Given the description of an element on the screen output the (x, y) to click on. 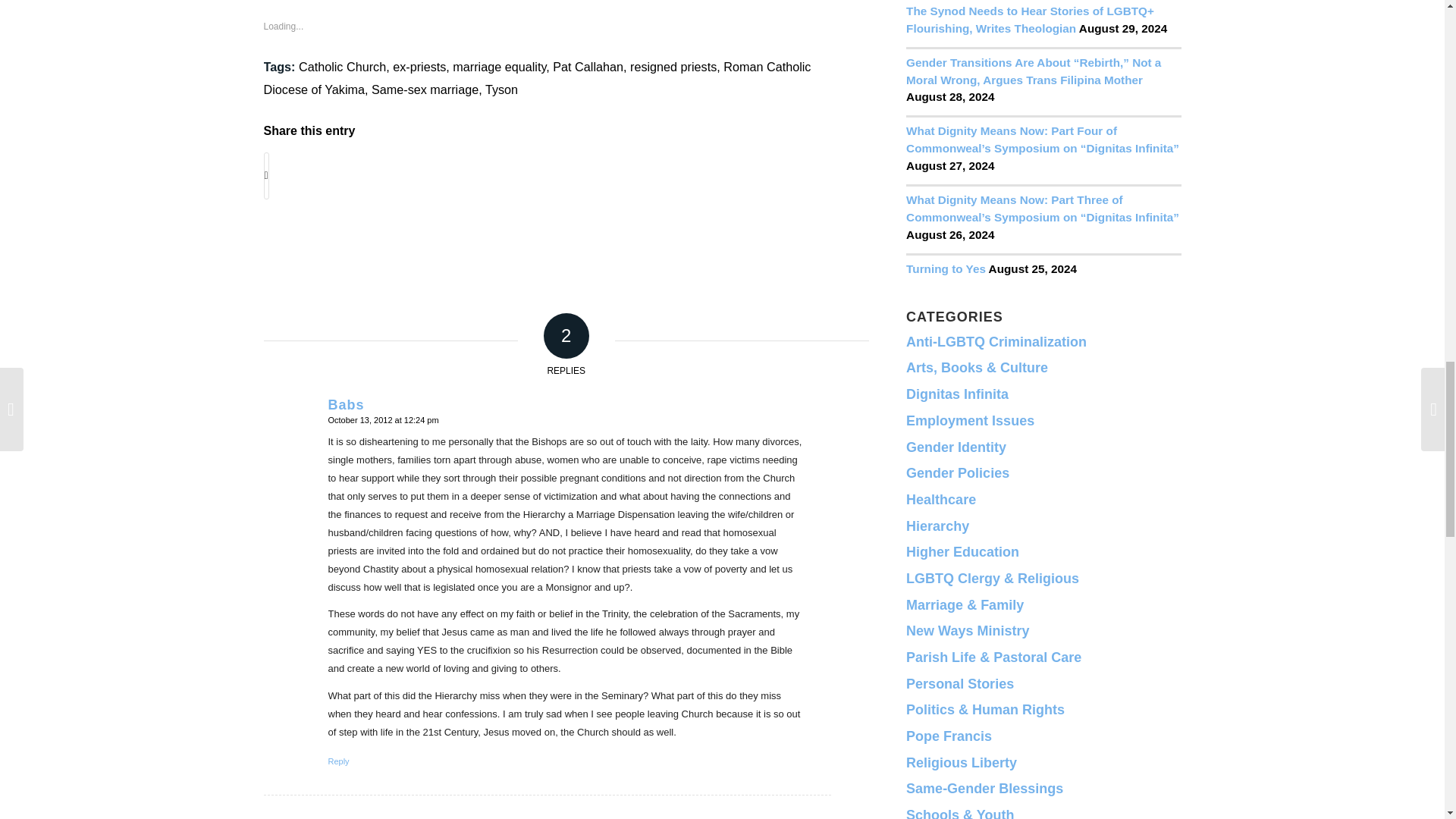
Catholic Church (341, 66)
marriage equality (499, 66)
Pat Callahan (588, 66)
ex-priests (419, 66)
